Given the description of an element on the screen output the (x, y) to click on. 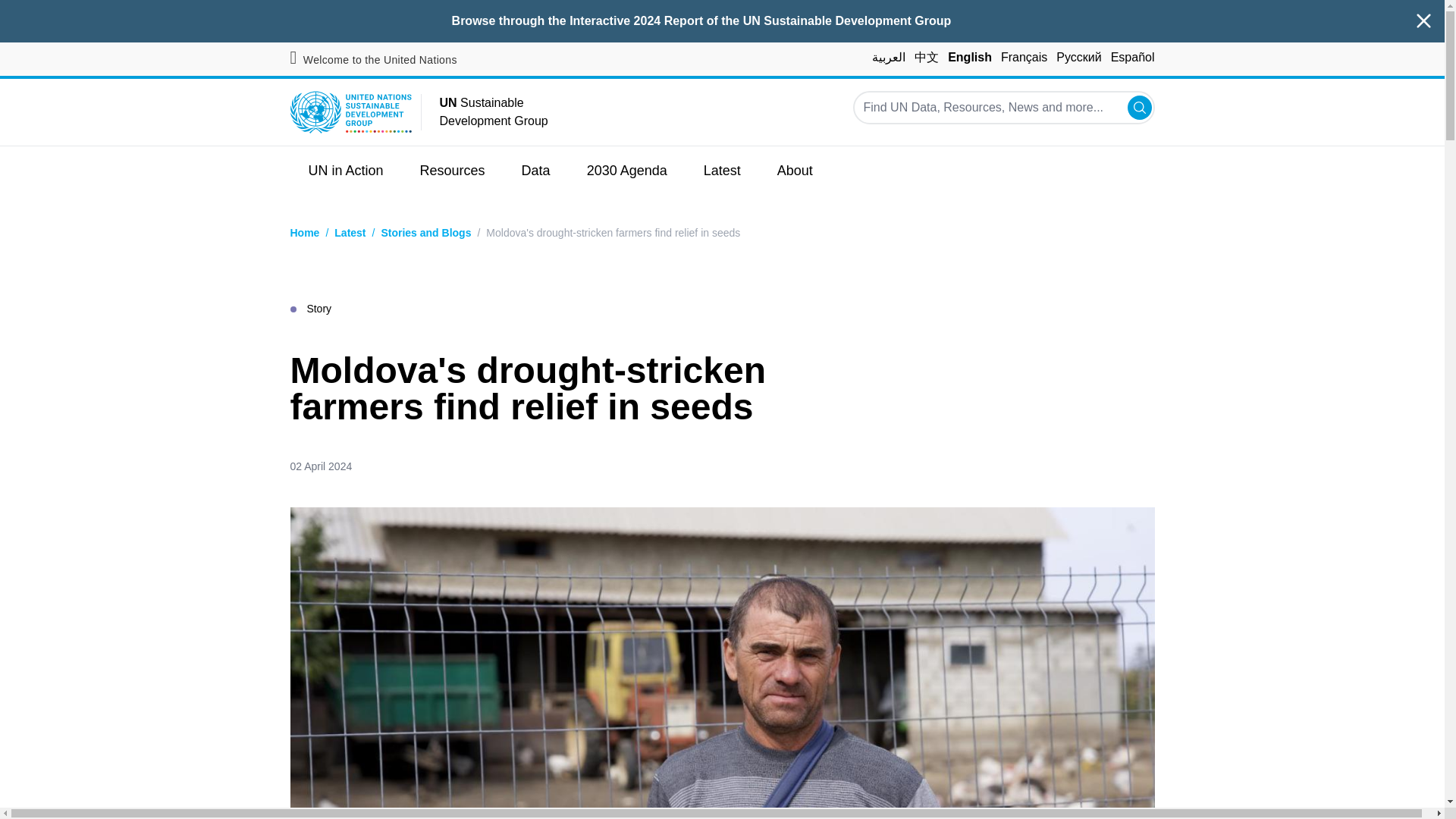
Learn about the UNSDG (794, 170)
UN in Action (345, 170)
Submit (1138, 107)
Close alert banner (1423, 21)
English (969, 56)
Resources (452, 170)
2030 Agenda (627, 170)
Read the latest news and updates from the field. (721, 170)
Welcome to the United Nations (373, 60)
Visit the 2030 Agenda (627, 170)
Data (536, 170)
UN in Action (345, 170)
